Given the description of an element on the screen output the (x, y) to click on. 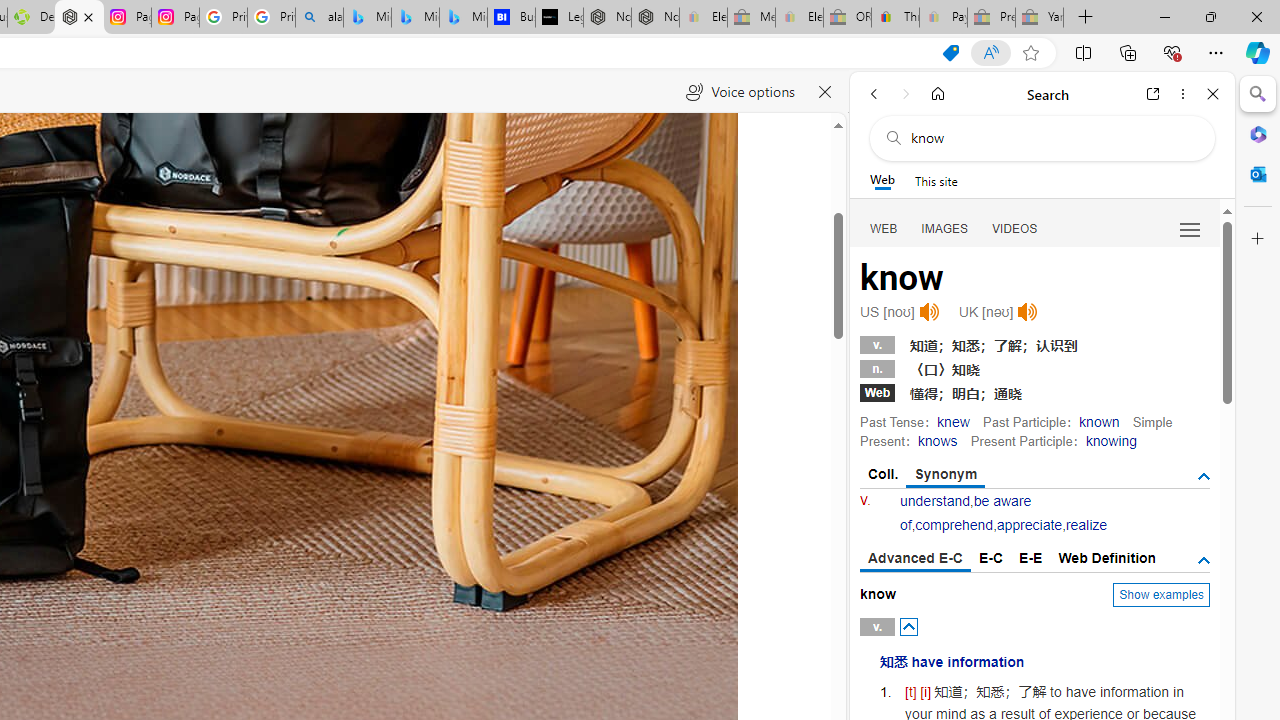
Threats and offensive language policy | eBay (895, 17)
Advanced E-C (915, 559)
be aware of (965, 512)
Coll. (883, 473)
AutomationID: tgdef (1203, 561)
AutomationID: tgsb (1203, 476)
appreciate (1028, 524)
